Given the description of an element on the screen output the (x, y) to click on. 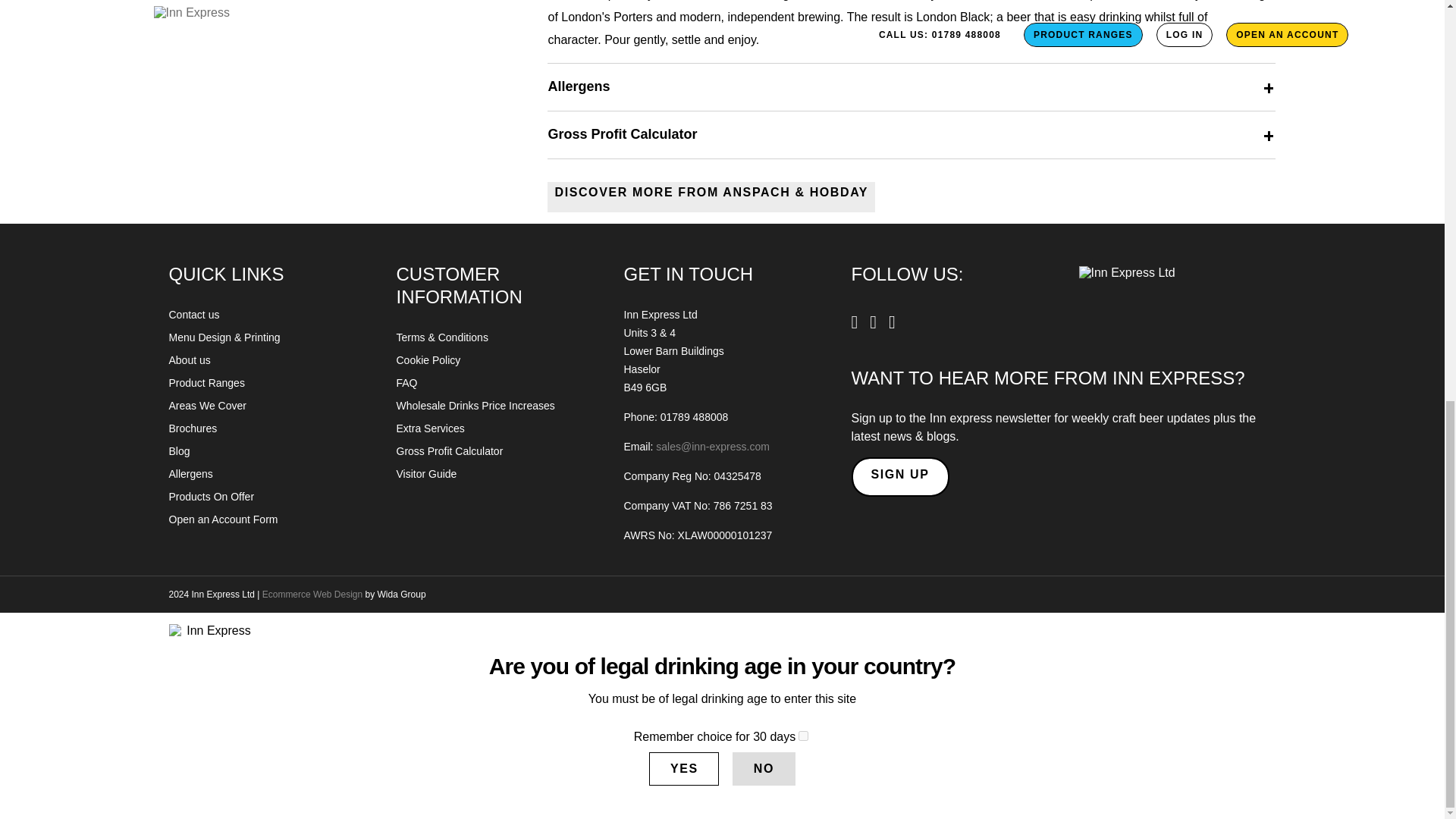
Yes (684, 768)
1 (802, 736)
No (763, 768)
